Given the description of an element on the screen output the (x, y) to click on. 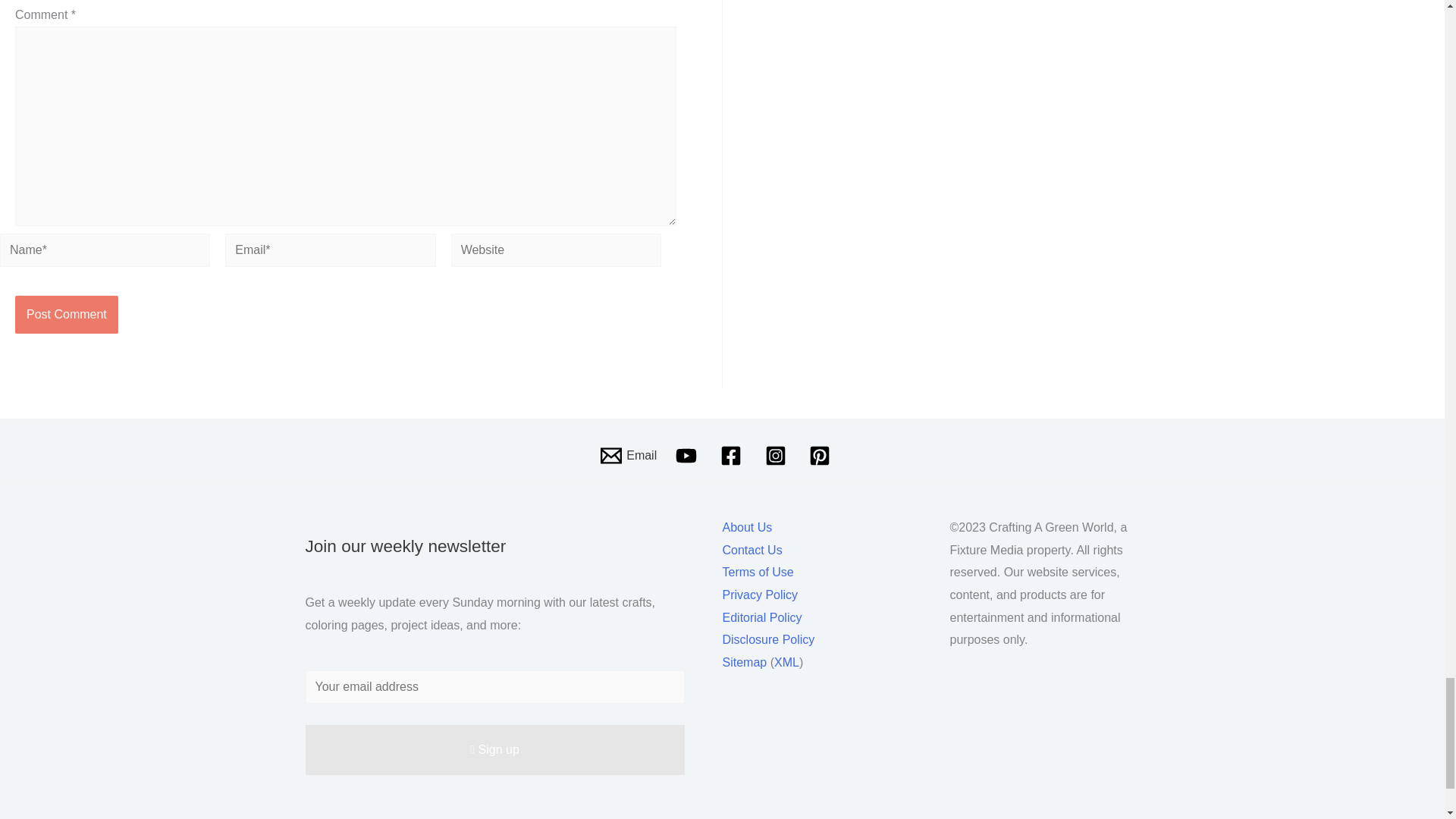
Post Comment (65, 314)
